Given the description of an element on the screen output the (x, y) to click on. 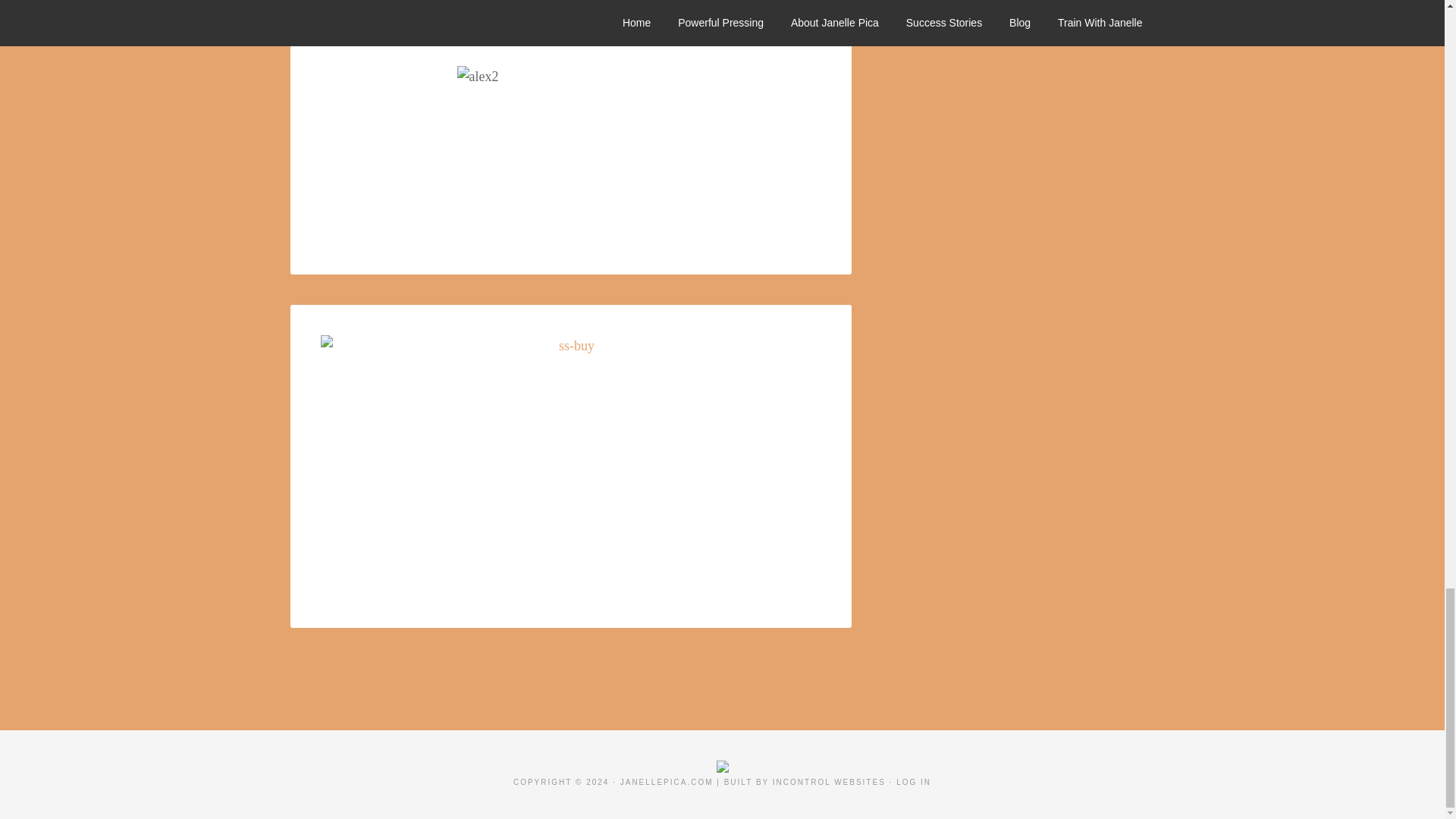
INCONTROL WEBSITES (829, 782)
LOG IN (913, 782)
JANELLEPICA.COM (666, 782)
